Given the description of an element on the screen output the (x, y) to click on. 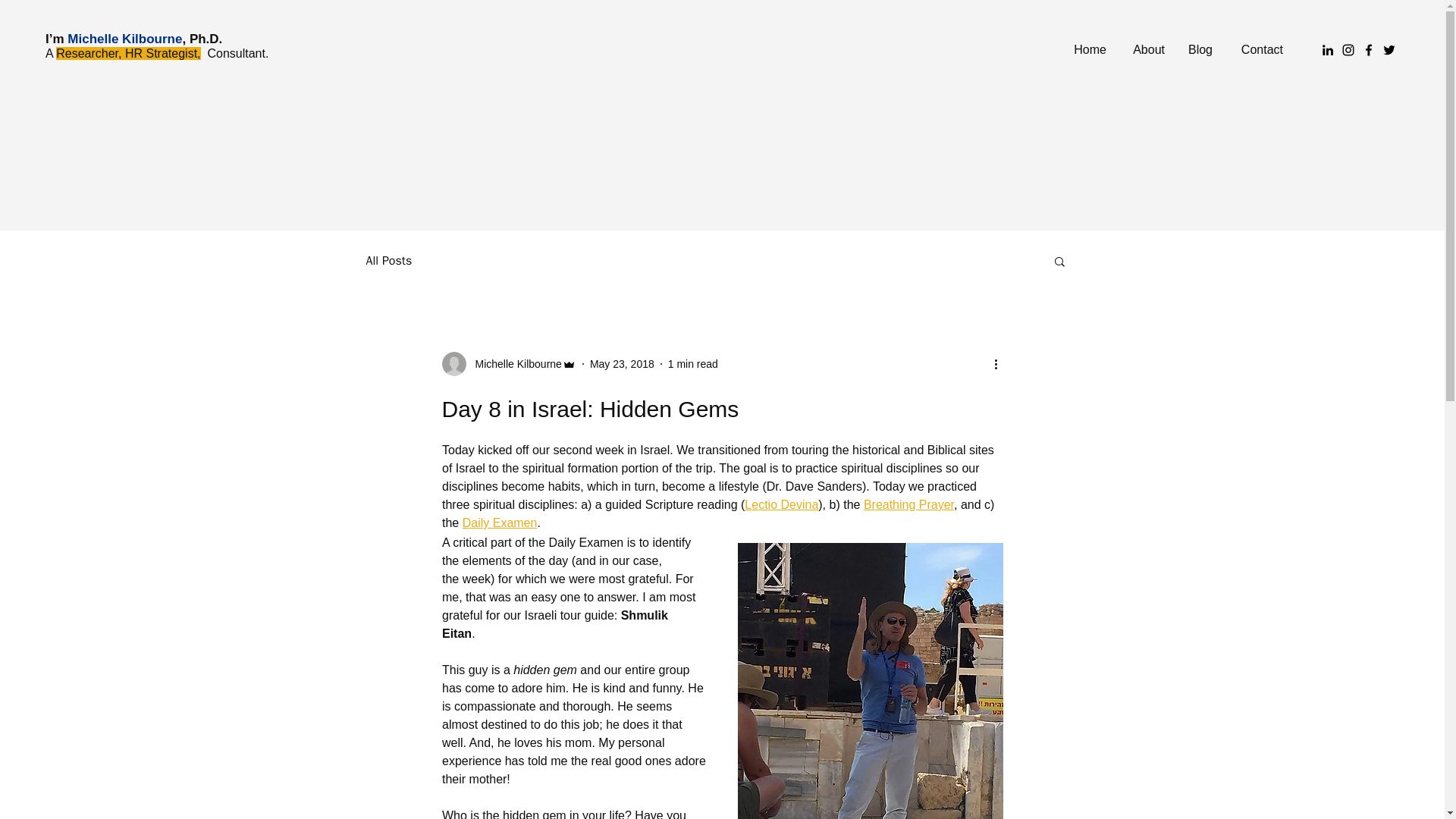
Michelle Kilbourne (508, 363)
1 min read (692, 363)
Breathing Prayer (908, 504)
Lectio Devina (781, 504)
Blog (1200, 49)
All Posts (388, 261)
About (1147, 49)
Home (1090, 49)
Michelle Kilbourne (512, 364)
Contact (1259, 49)
